Given the description of an element on the screen output the (x, y) to click on. 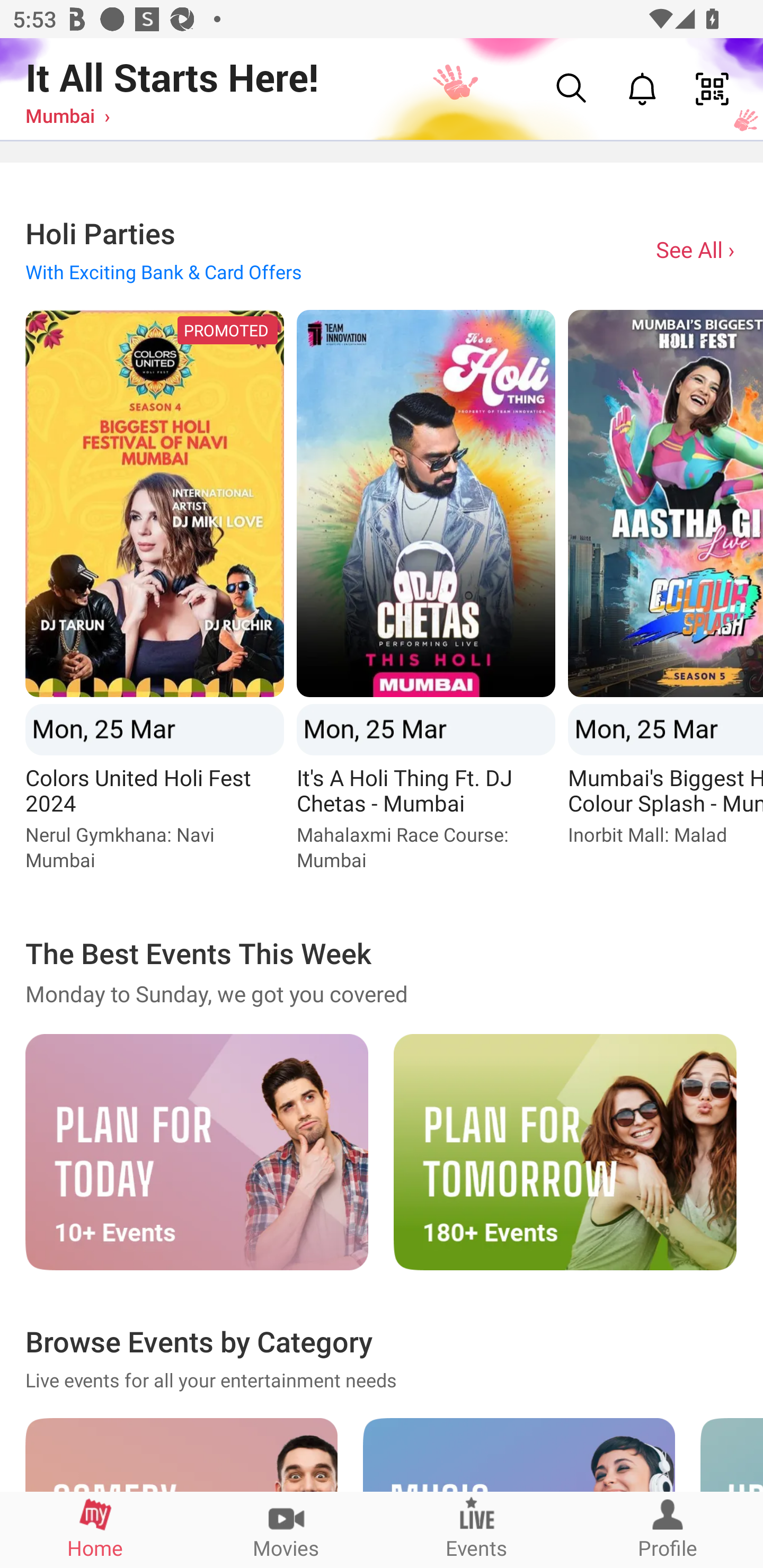
Mumbai  › (67, 114)
See All › (696, 248)
Home (95, 1529)
Movies (285, 1529)
Events (476, 1529)
Profile (667, 1529)
